Given the description of an element on the screen output the (x, y) to click on. 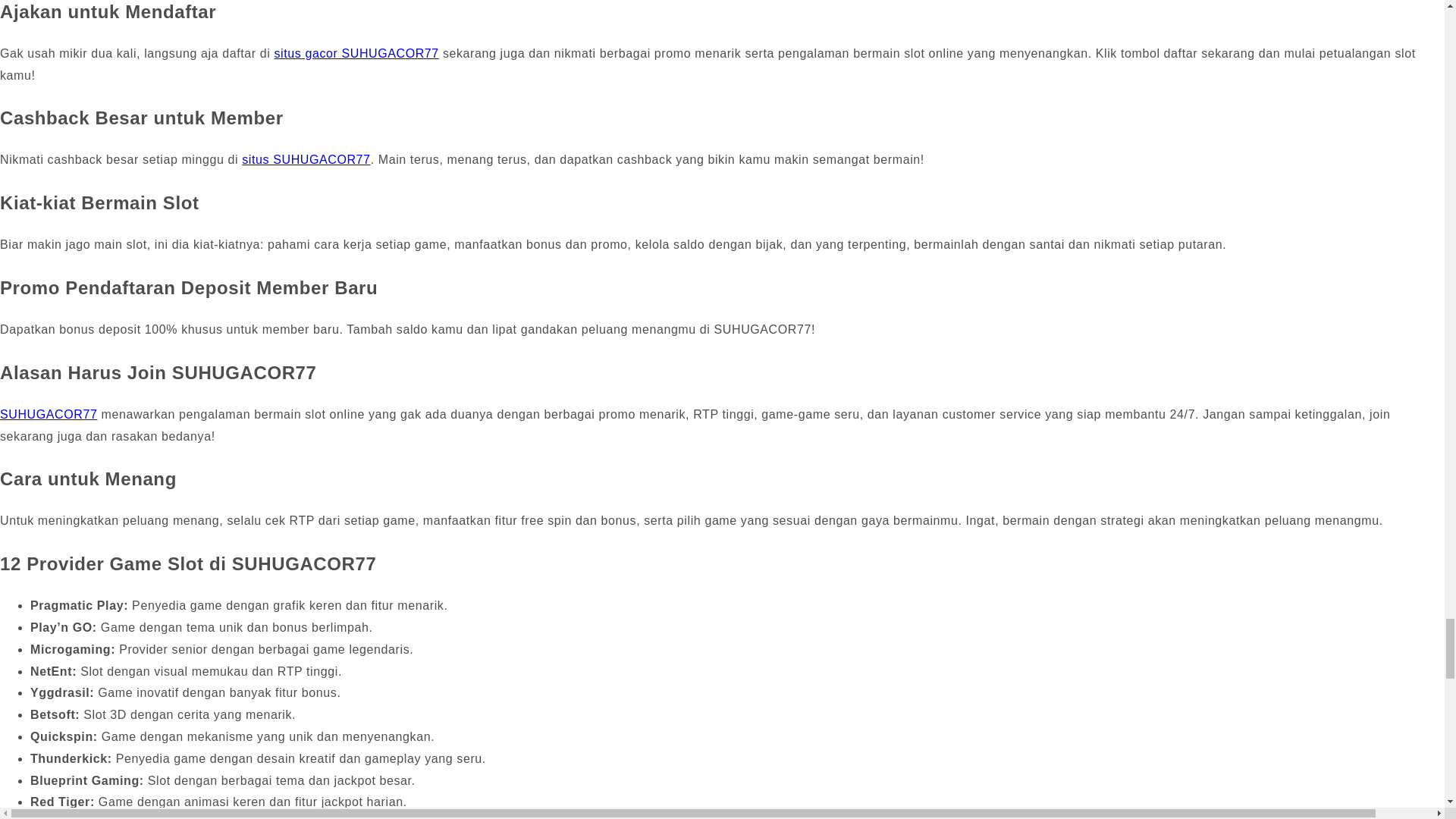
SUHUGACOR77 (48, 413)
situs gacor SUHUGACOR77 (355, 52)
situs SUHUGACOR77 (305, 159)
